Given the description of an element on the screen output the (x, y) to click on. 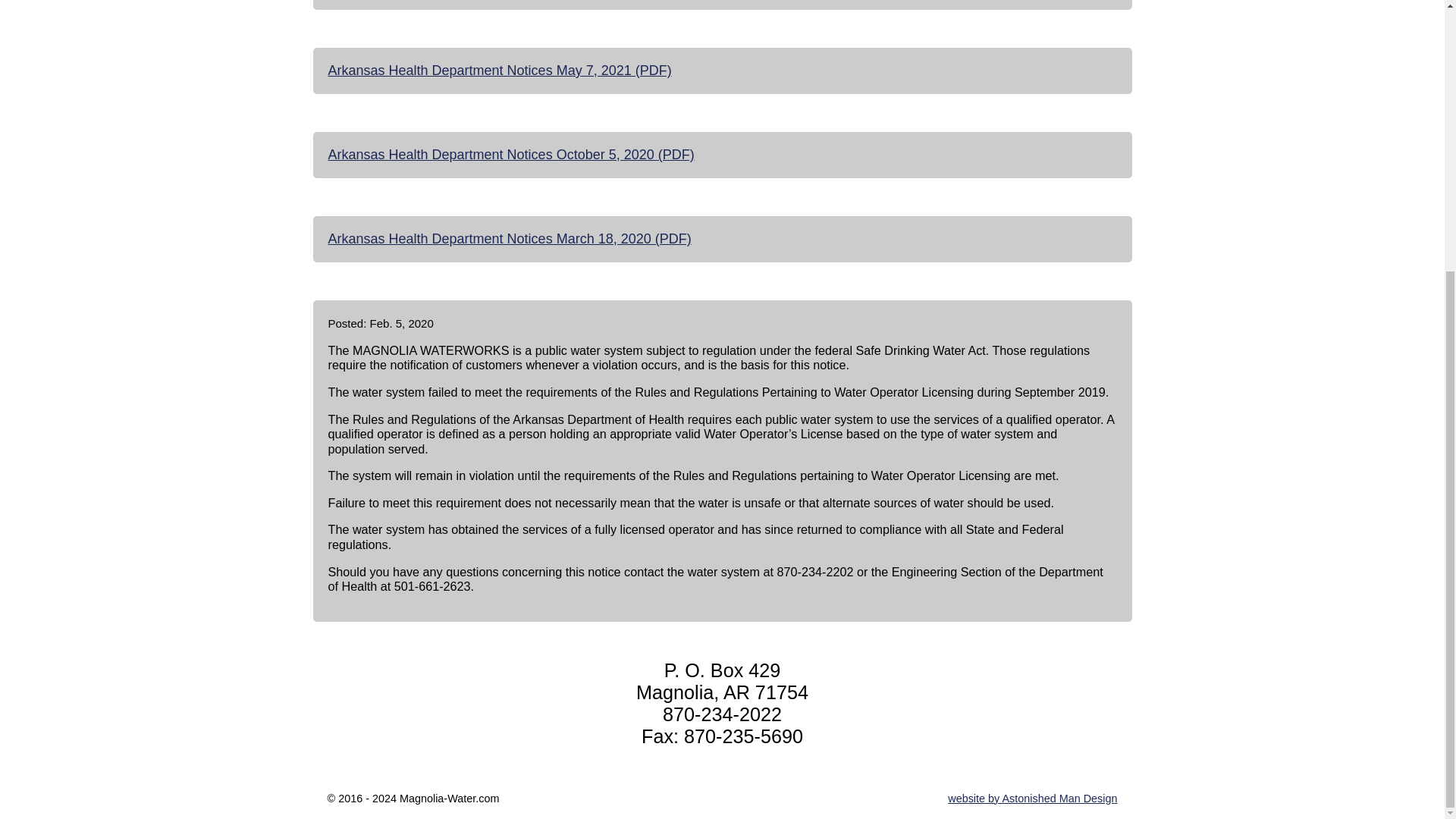
website by Astonished Man Design (1031, 798)
